Given the description of an element on the screen output the (x, y) to click on. 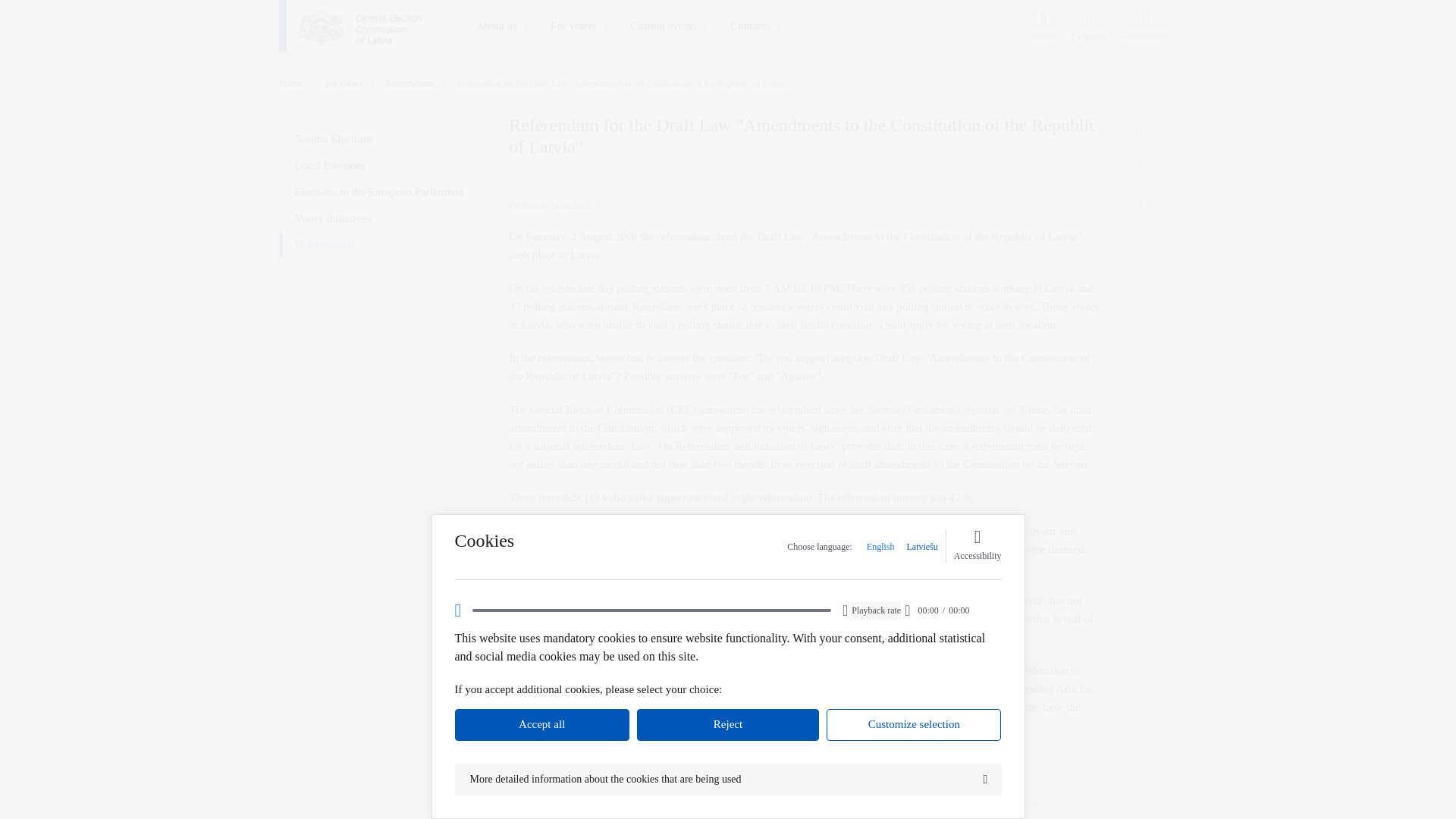
English (880, 546)
Accessibility (977, 546)
Playback rate (876, 610)
